Given the description of an element on the screen output the (x, y) to click on. 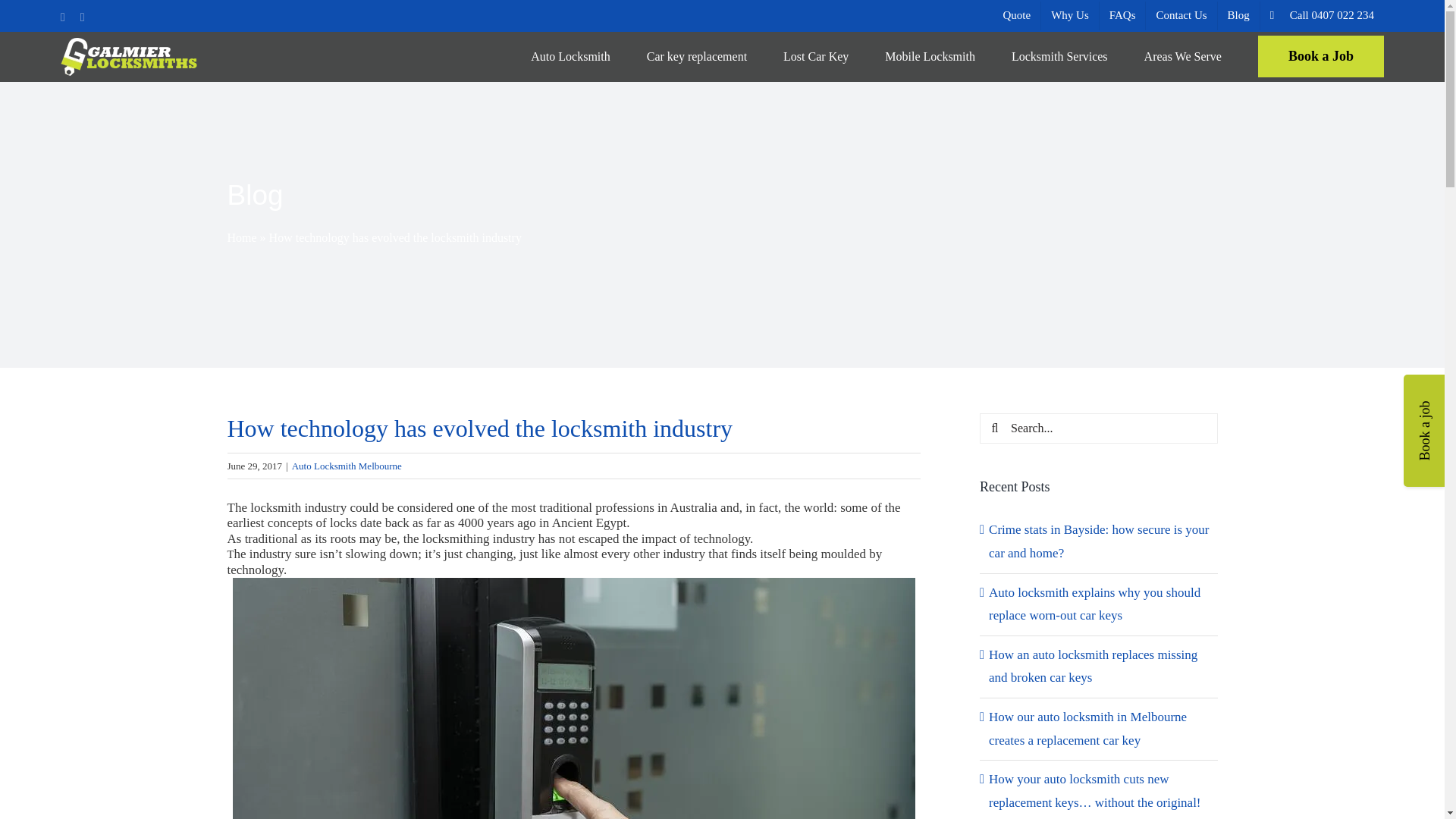
Quote (1016, 15)
Locksmith Services (1059, 56)
Areas We Serve (1182, 56)
Car key replacement (696, 56)
Blog (1238, 15)
FAQs (1122, 15)
Call 0407 022 234 (1322, 15)
Contact Us (1180, 15)
Lost Car Key (815, 56)
Mobile Locksmith (930, 56)
